Given the description of an element on the screen output the (x, y) to click on. 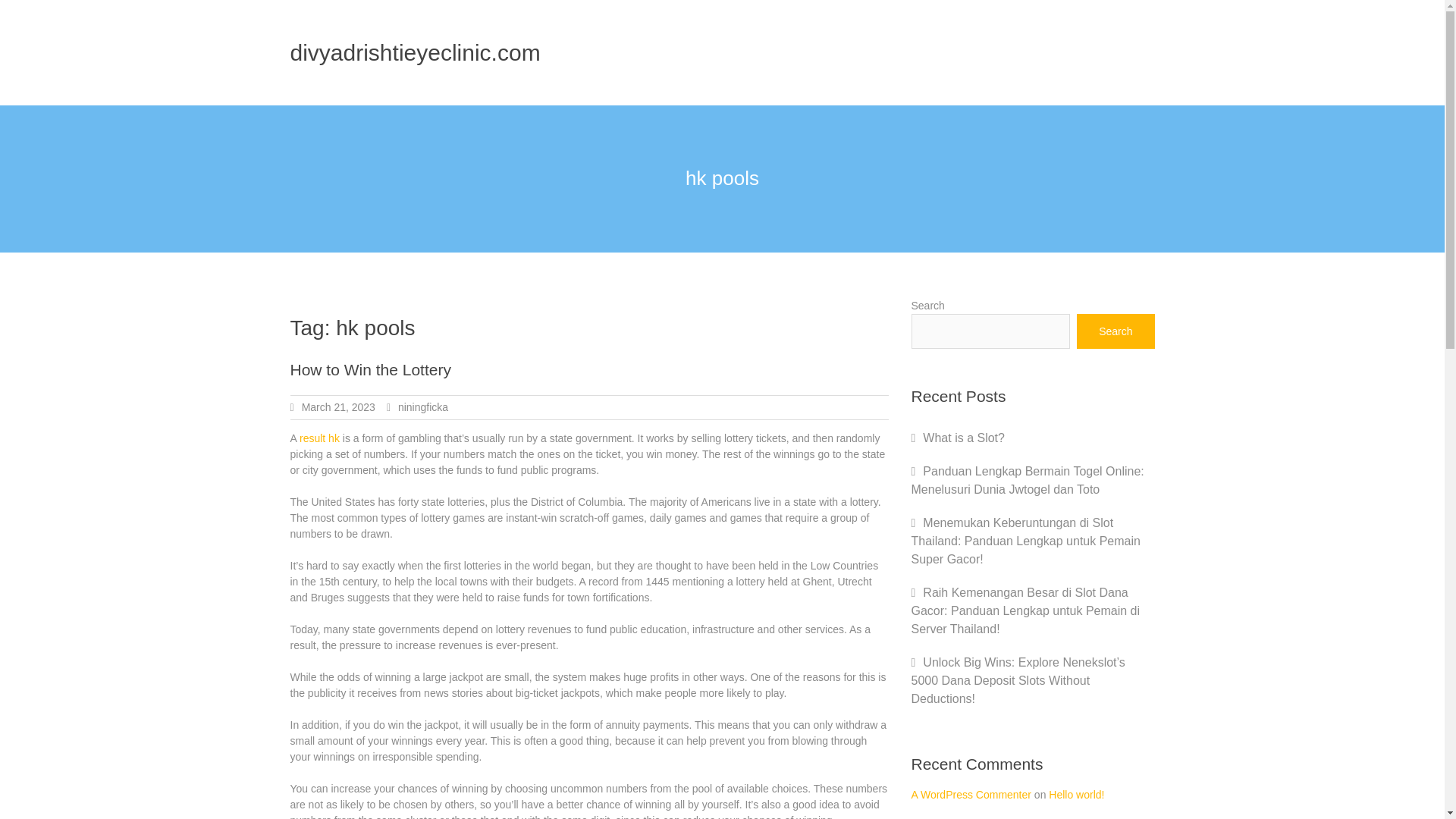
How to Win the Lottery (369, 369)
Search (1115, 330)
result hk (319, 438)
March 21, 2023 (338, 407)
A WordPress Commenter (970, 794)
divyadrishtieyeclinic.com (414, 52)
Hello world! (1075, 794)
What is a Slot? (963, 437)
niningficka (422, 407)
